Given the description of an element on the screen output the (x, y) to click on. 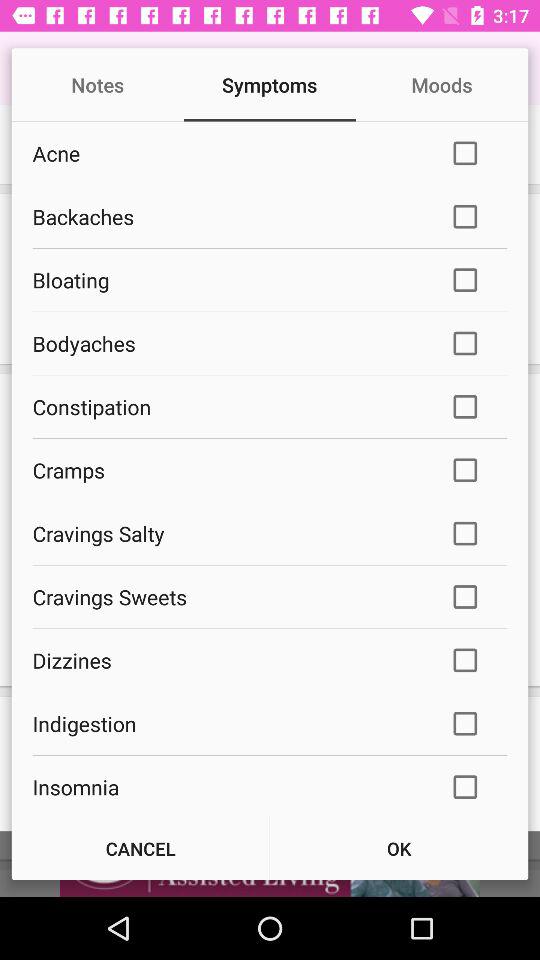
turn off icon at the bottom left corner (140, 848)
